Given the description of an element on the screen output the (x, y) to click on. 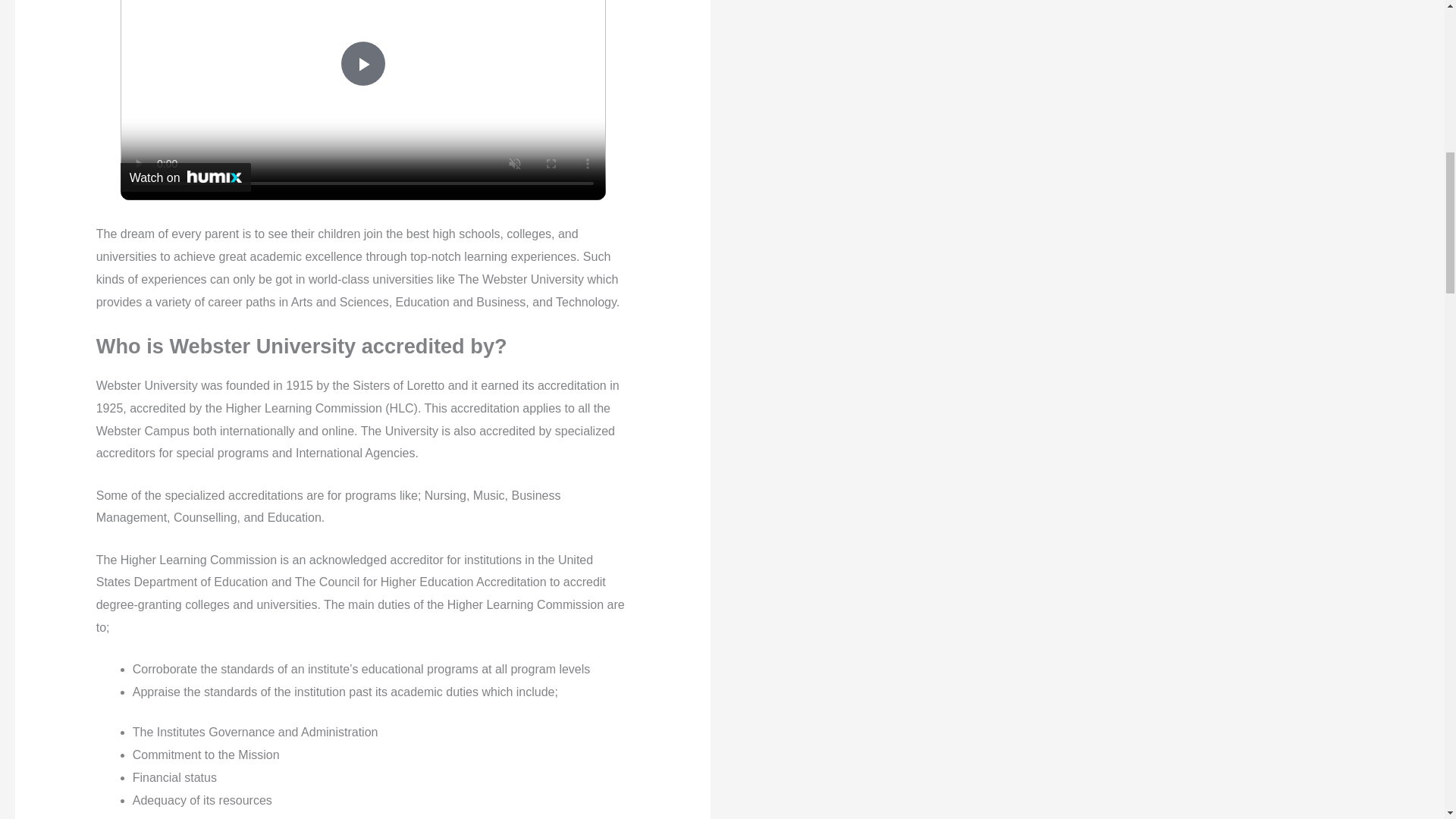
Play Video (362, 63)
